Given the description of an element on the screen output the (x, y) to click on. 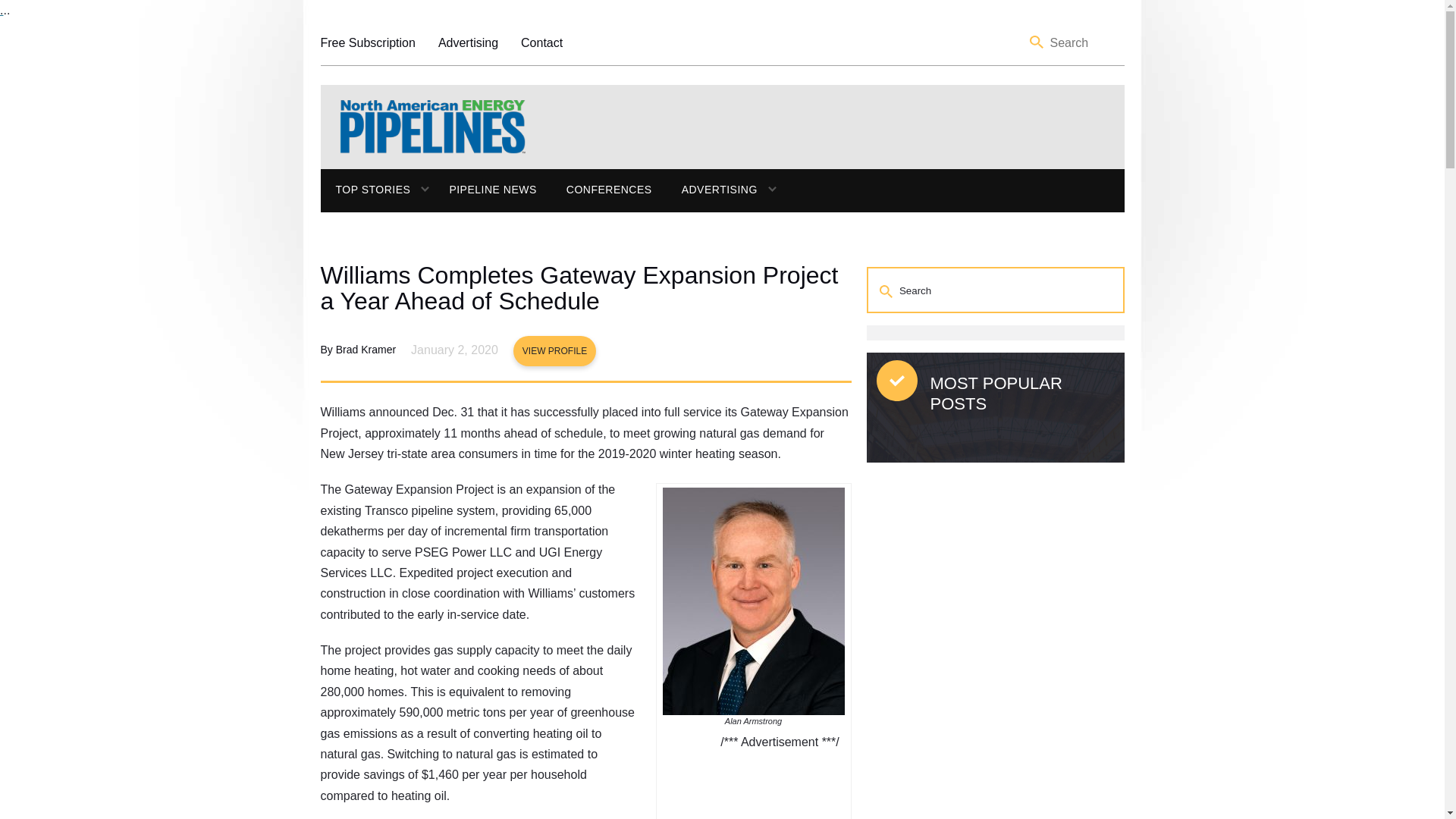
ADVERTISING (711, 189)
CONFERENCES (608, 189)
Contact (541, 42)
Search (887, 290)
TOP STORIES (365, 189)
Search (1037, 43)
PIPELINE NEWS (491, 189)
Free Subscription (367, 42)
